Given the description of an element on the screen output the (x, y) to click on. 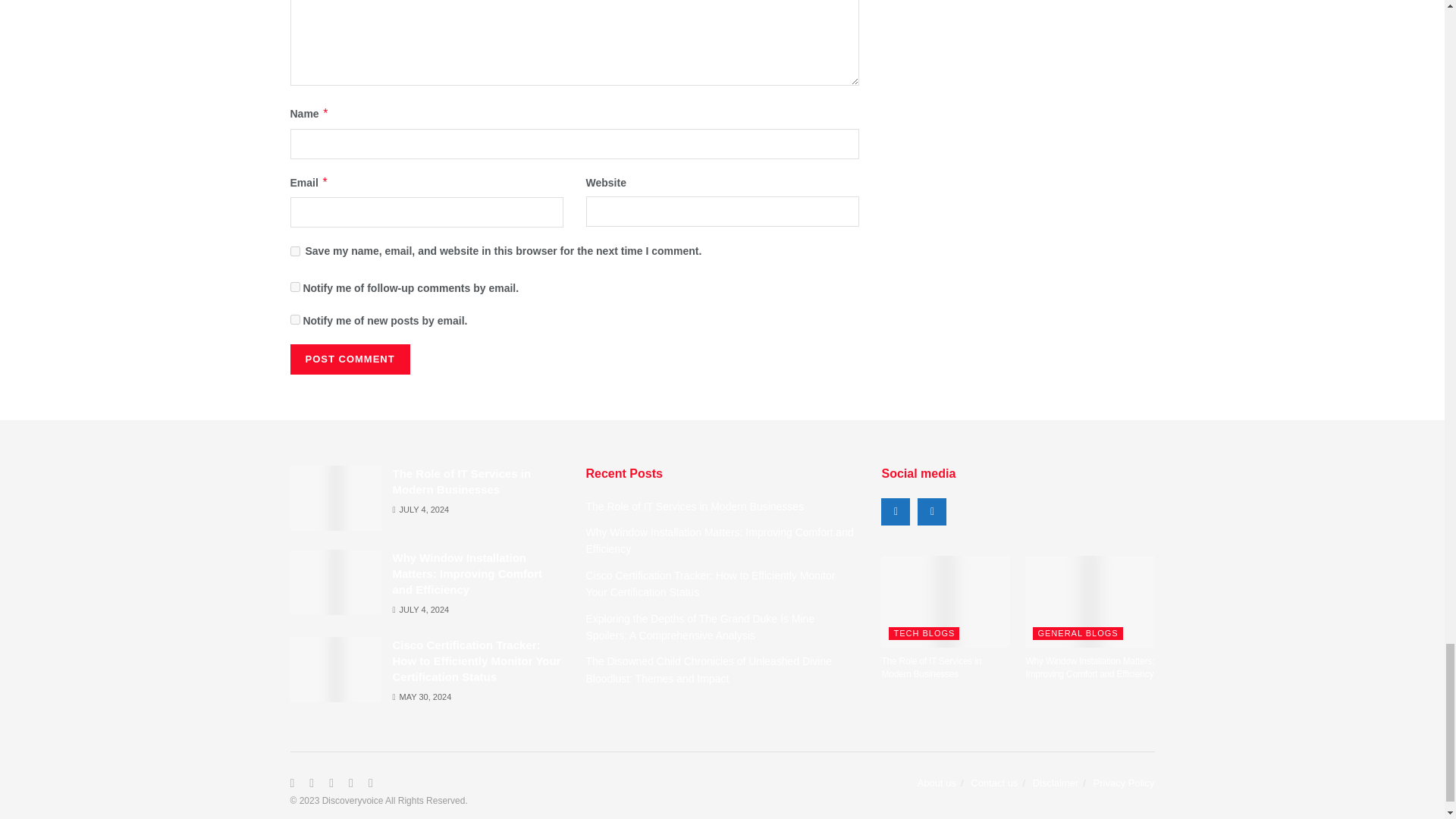
subscribe (294, 286)
yes (294, 251)
Post Comment (349, 358)
subscribe (294, 319)
